Given the description of an element on the screen output the (x, y) to click on. 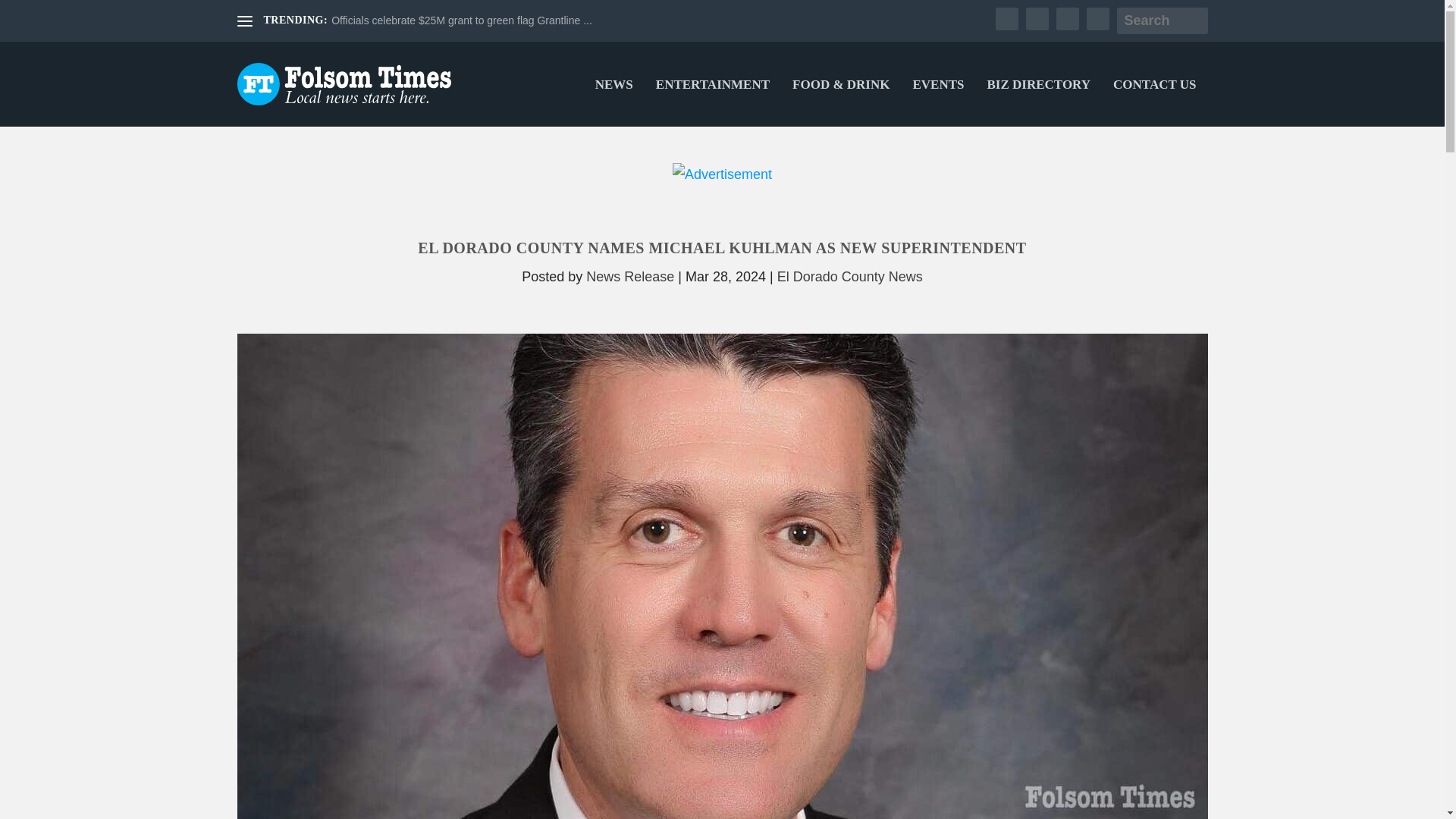
News Release (630, 276)
Posts by News Release (630, 276)
EVENTS (937, 102)
CONTACT US (1154, 102)
El Dorado County News (850, 276)
Search for: (1161, 20)
ENTERTAINMENT (713, 102)
BIZ DIRECTORY (1038, 102)
